Given the description of an element on the screen output the (x, y) to click on. 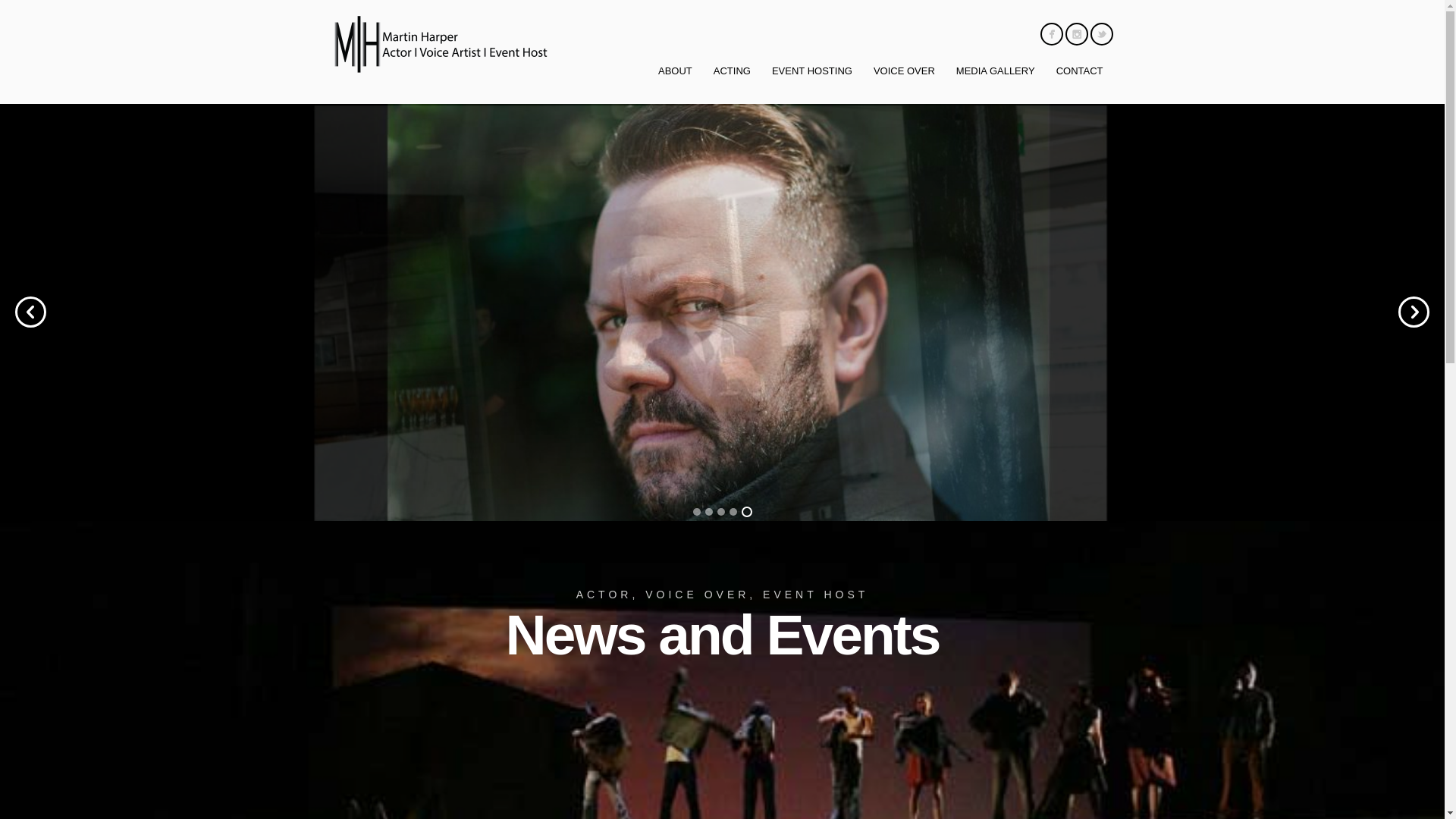
EVENT HOSTING Element type: text (811, 71)
ACTING Element type: text (731, 71)
CONTACT Element type: text (1079, 71)
VOICE OVER Element type: text (903, 71)
MEDIA GALLERY Element type: text (995, 71)
ABOUT Element type: text (674, 71)
